Given the description of an element on the screen output the (x, y) to click on. 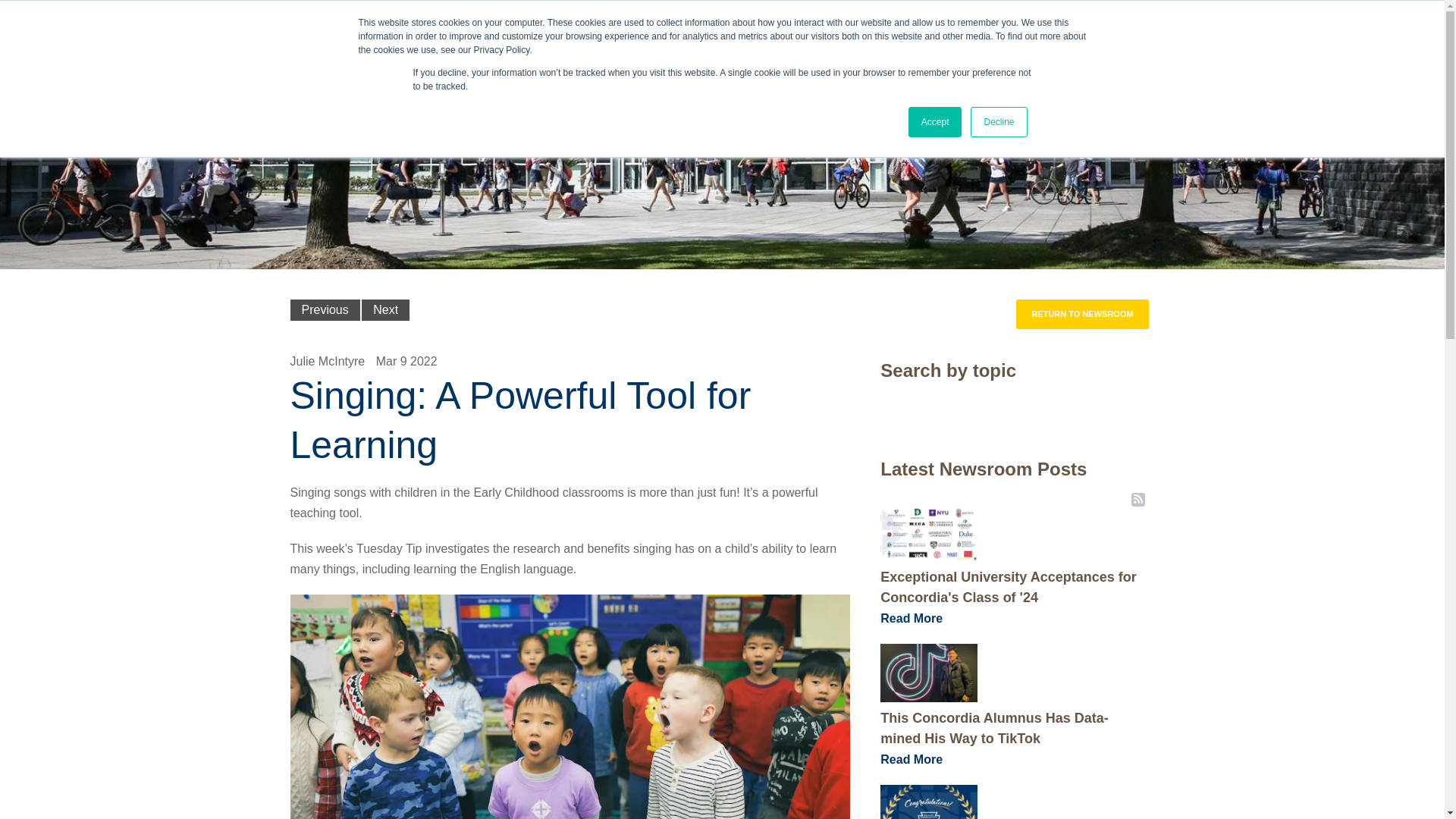
Accept (935, 122)
Decline (998, 122)
QUICKLINKS (1200, 27)
ADMISSIONS (925, 62)
APPLY (1357, 26)
This Concordia Alumnus Has Data-mined His Way to TikTok (928, 672)
BOOK A TOUR (1286, 27)
PARENT PORTAL (1115, 27)
ACADEMICS (1023, 62)
